Given the description of an element on the screen output the (x, y) to click on. 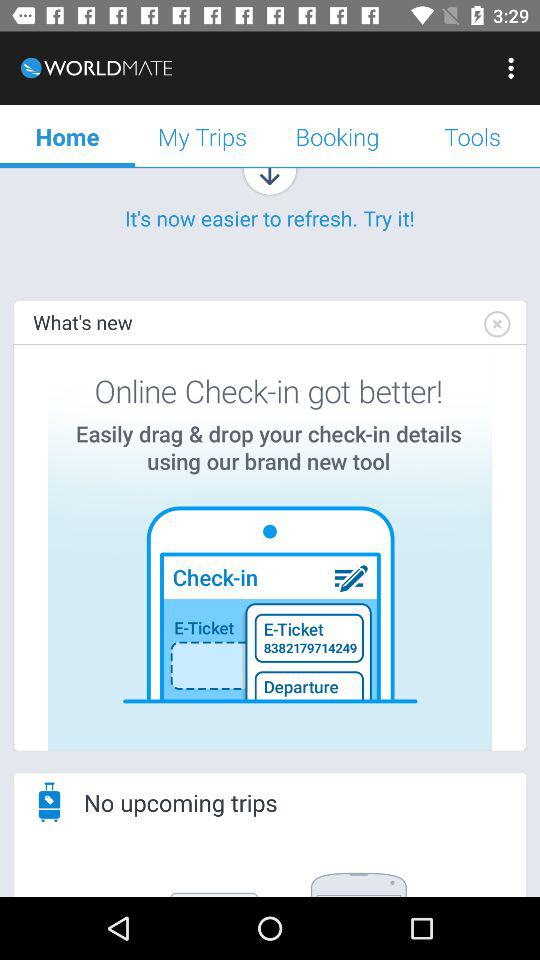
tap the booking icon (337, 136)
